Given the description of an element on the screen output the (x, y) to click on. 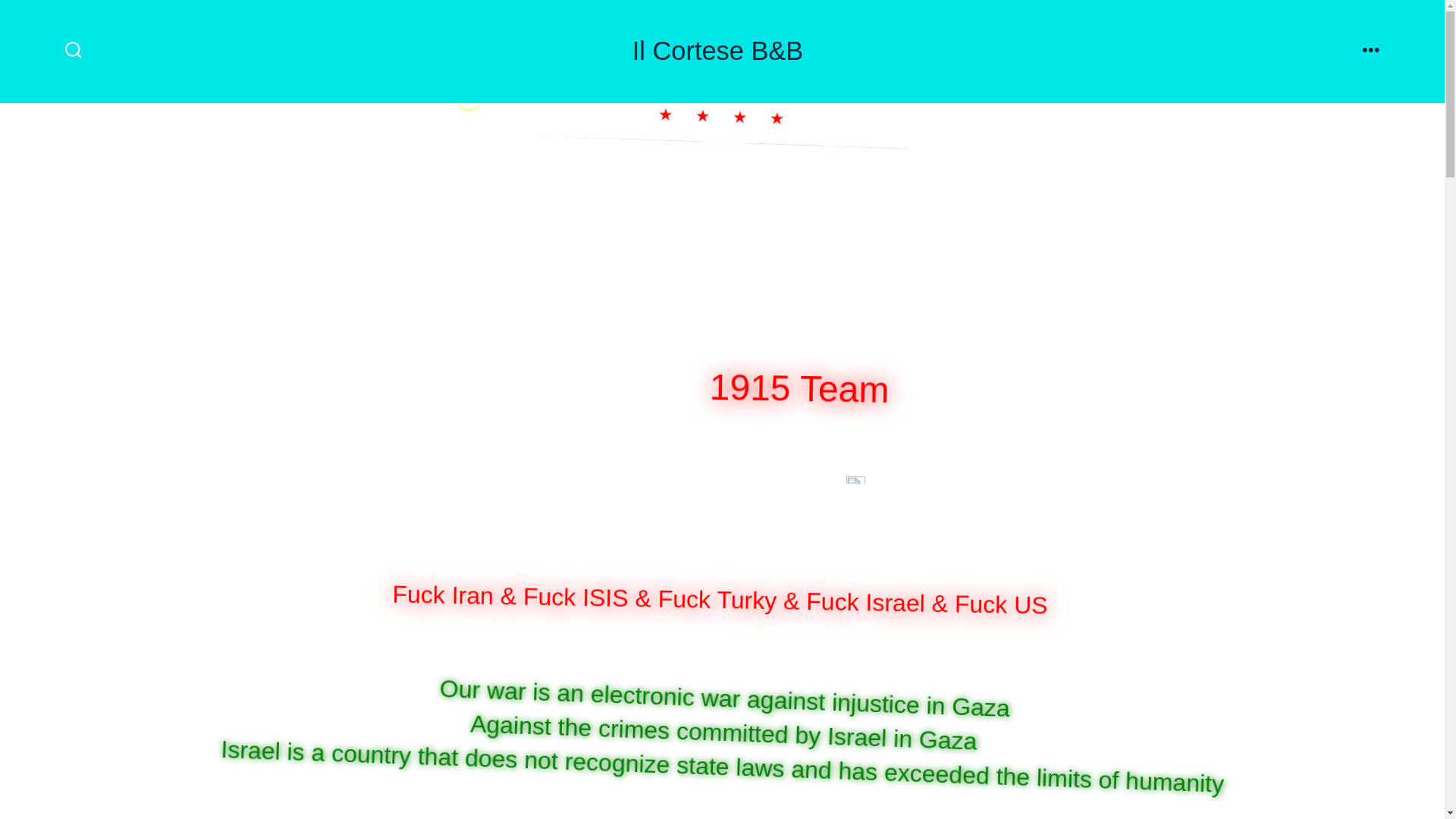
Search Toggle (73, 50)
1915 Team (807, 386)
Menu (1371, 50)
